Given the description of an element on the screen output the (x, y) to click on. 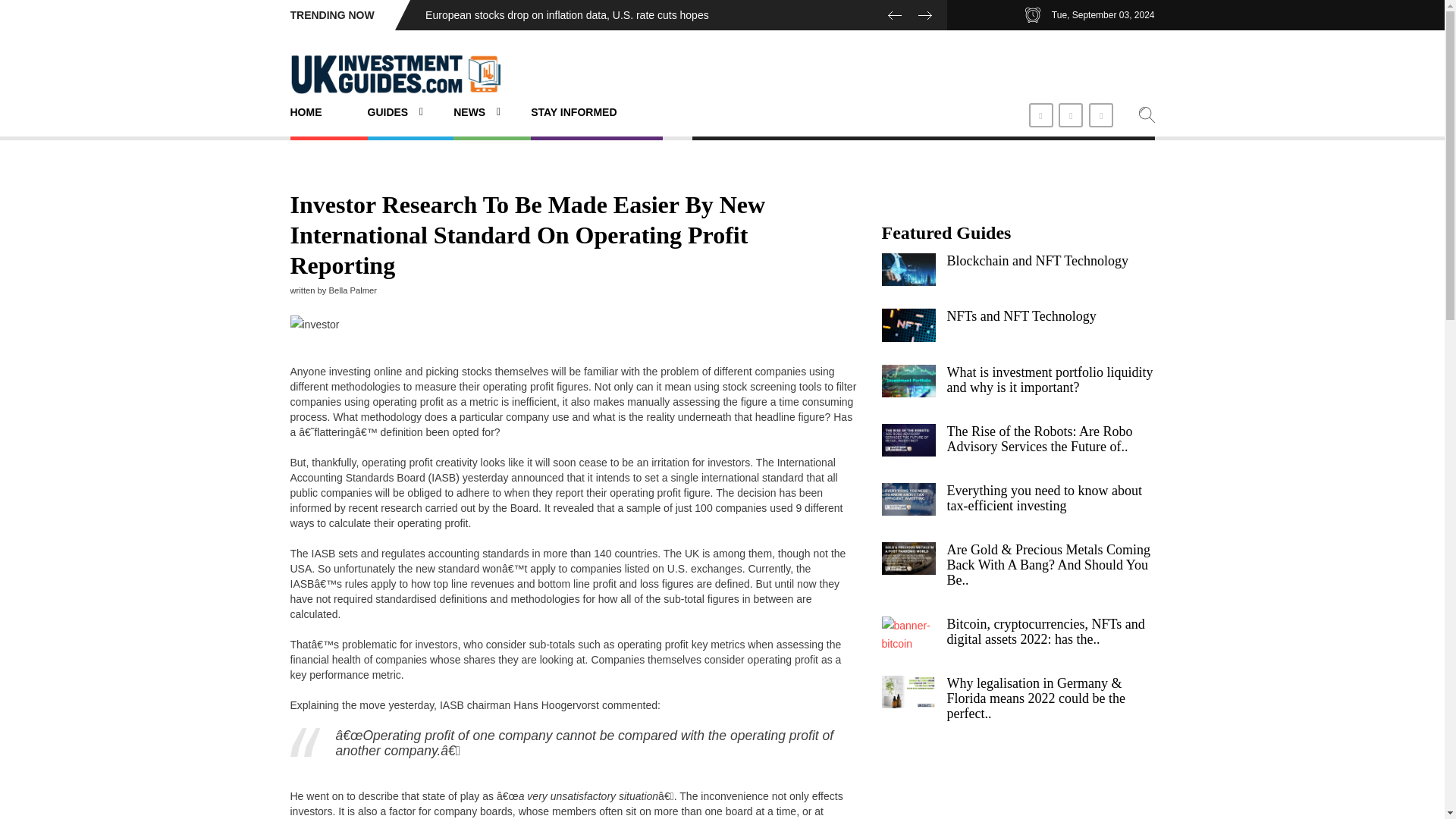
GUIDES (394, 112)
European stocks drop on inflation data, U.S. rate cuts hopes (567, 15)
HOME (312, 112)
